Given the description of an element on the screen output the (x, y) to click on. 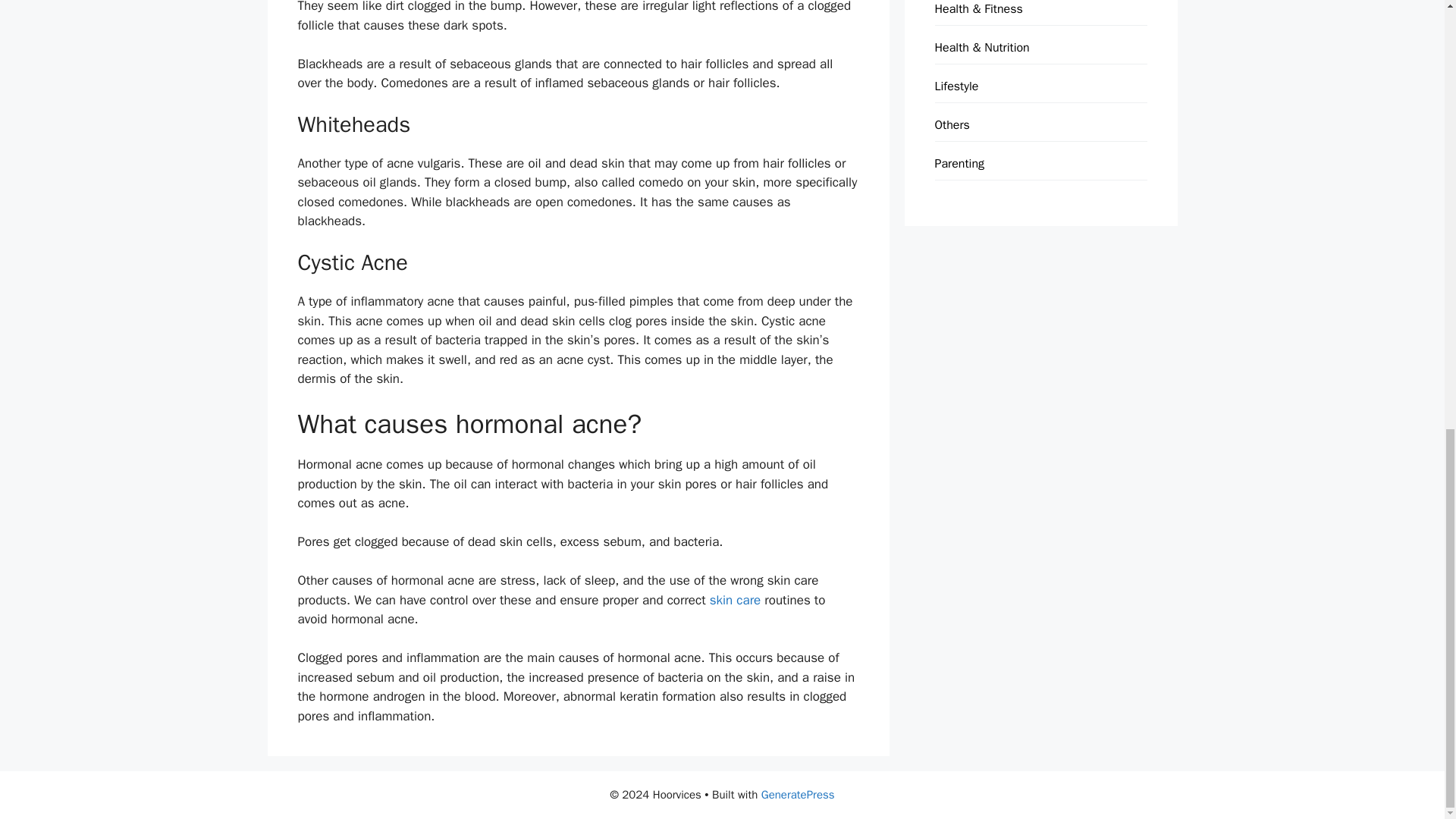
GeneratePress (797, 794)
Parenting (959, 163)
Lifestyle (956, 86)
Others (951, 124)
skin care (737, 600)
